Given the description of an element on the screen output the (x, y) to click on. 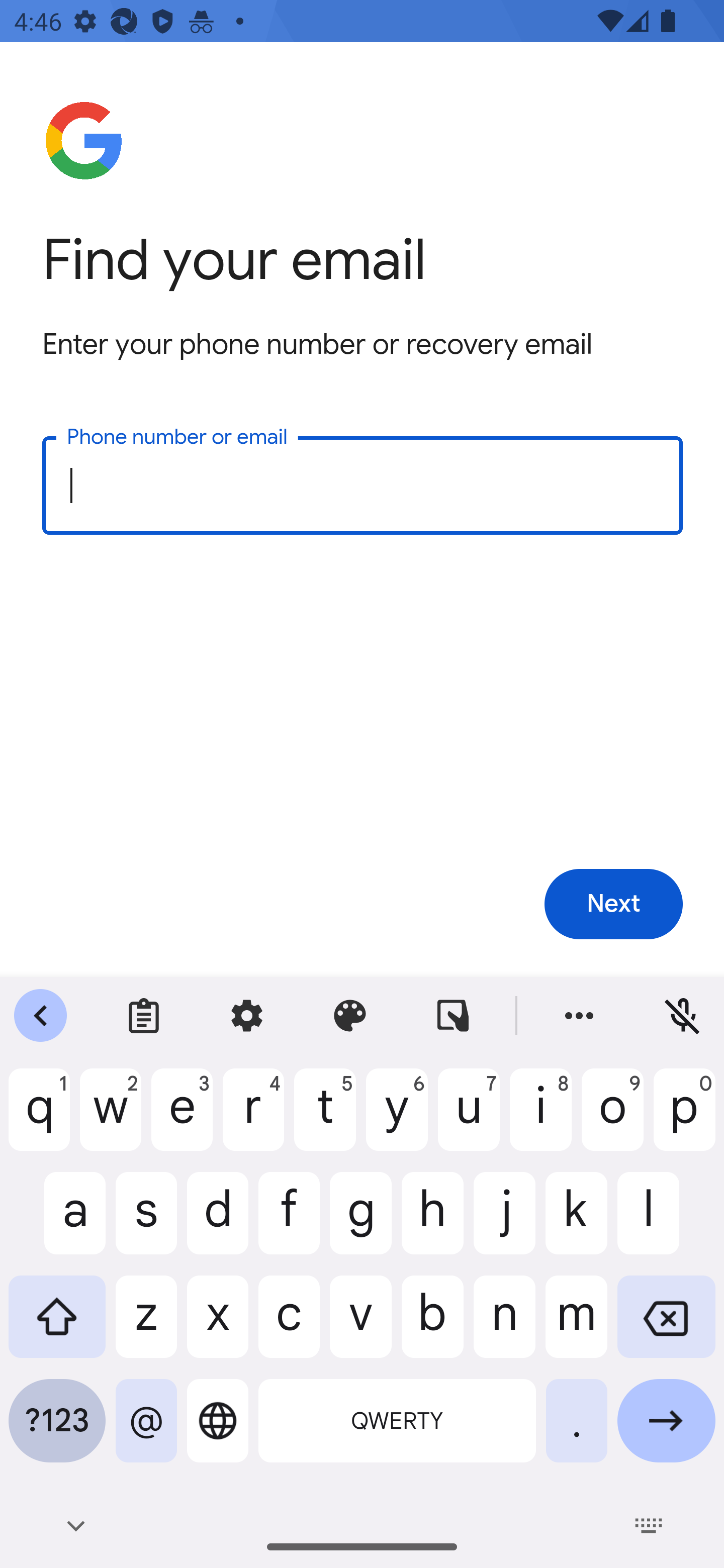
Next (613, 904)
